Given the description of an element on the screen output the (x, y) to click on. 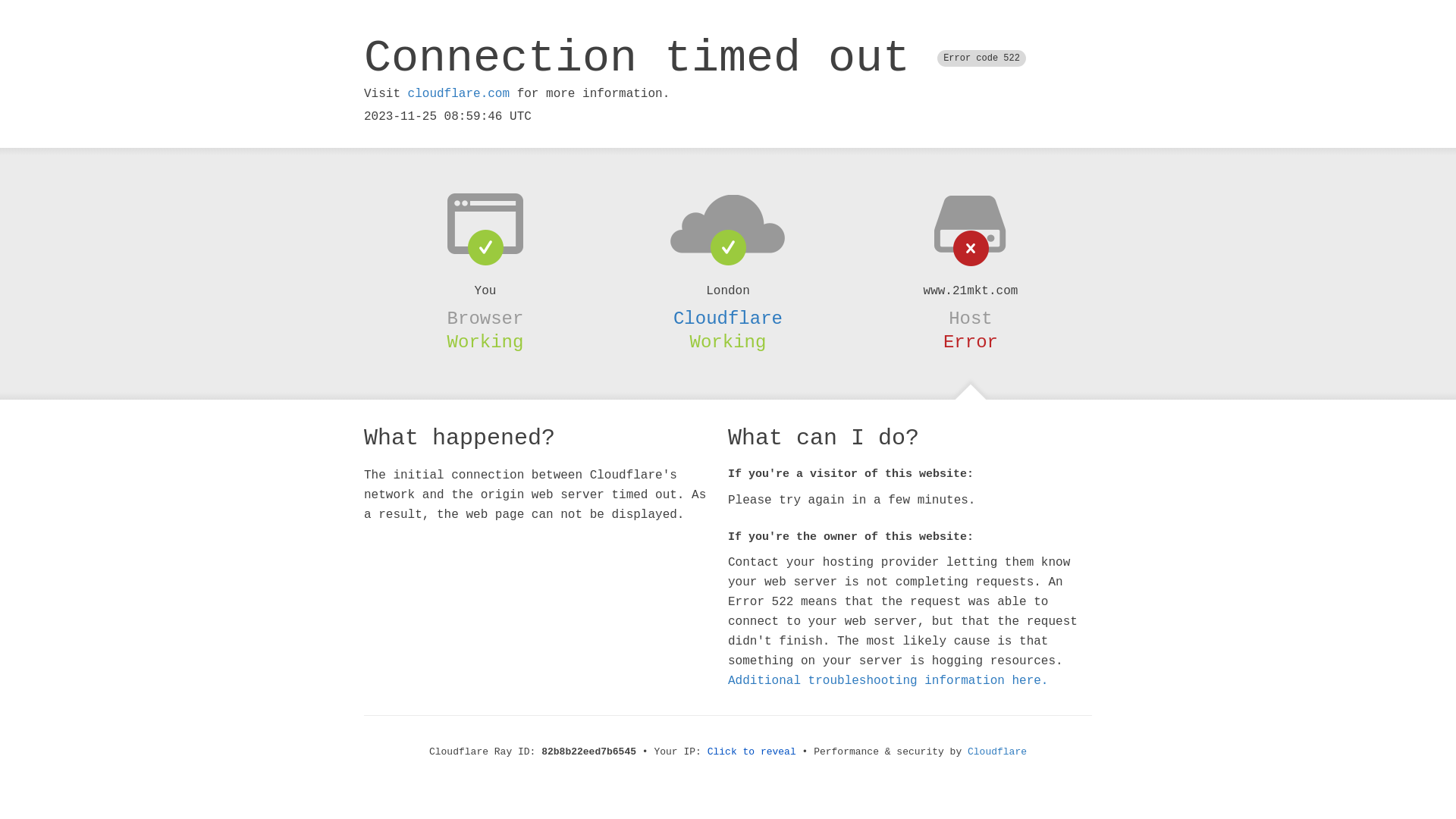
cloudflare.com Element type: text (458, 93)
Click to reveal Element type: text (751, 751)
Additional troubleshooting information here. Element type: text (888, 680)
Cloudflare Element type: text (996, 751)
Cloudflare Element type: text (727, 318)
